Given the description of an element on the screen output the (x, y) to click on. 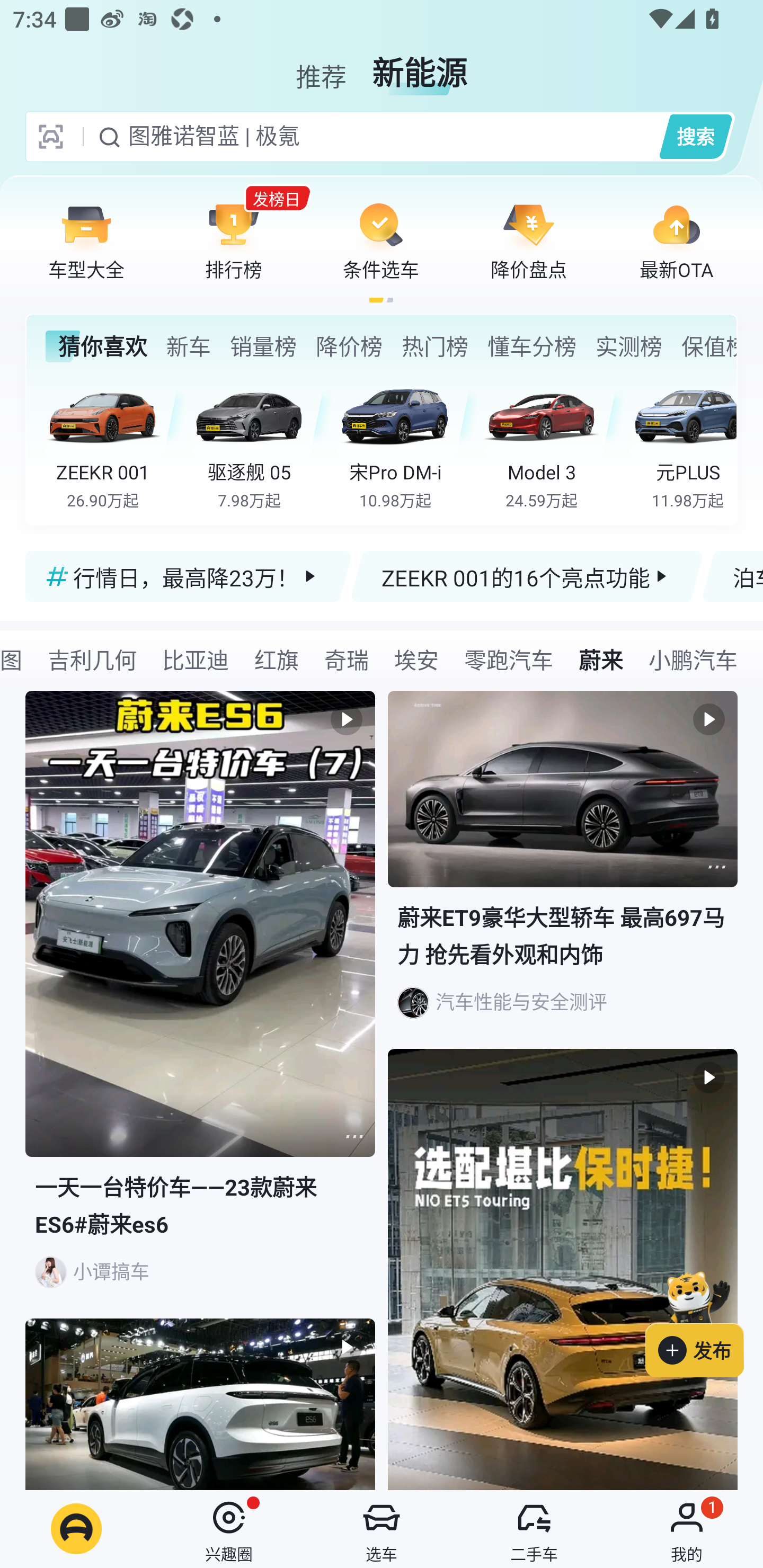
推荐 (321, 65)
新能源 (419, 65)
搜索 (695, 136)
车型大全 (86, 240)
发榜日 排行榜 (233, 240)
条件选车 (380, 240)
降价盘点 (528, 240)
最新OTA (676, 240)
猜你喜欢 (96, 346)
新车 (188, 346)
销量榜 (262, 346)
降价榜 (348, 346)
热门榜 (434, 346)
懂车分榜 (531, 346)
实测榜 (628, 346)
保值榜 (708, 346)
ZEEKR 001 26.90万起 (115, 442)
驱逐舰 05 7.98万起 (261, 442)
宋Pro DM-i 10.98万起 (407, 442)
Model 3 24.59万起 (554, 442)
元PLUS 11.98万起 (683, 442)
行情日，最高降23万！ (188, 576)
ZEEKR 001的16个亮点功能 (526, 576)
吉利几何 (92, 659)
比亚迪 (195, 659)
红旗 (276, 659)
奇瑞 (346, 659)
埃安 (416, 659)
零跑汽车 (508, 659)
蔚来 (600, 659)
小鹏汽车 (692, 659)
  一天一台特价车——23款蔚来ES6#蔚来es6 小谭搞车 (200, 1004)
  蔚来ET9豪华大型轿车 最高697马力 抢先看外观和内饰 汽车性能与安全测评 (562, 869)
 (716, 867)
  (562, 1268)
 (354, 1136)
发布 (704, 1320)
  (200, 1403)
 兴趣圈 (228, 1528)
 选车 (381, 1528)
 二手车 (533, 1528)
 我的 (686, 1528)
